Given the description of an element on the screen output the (x, y) to click on. 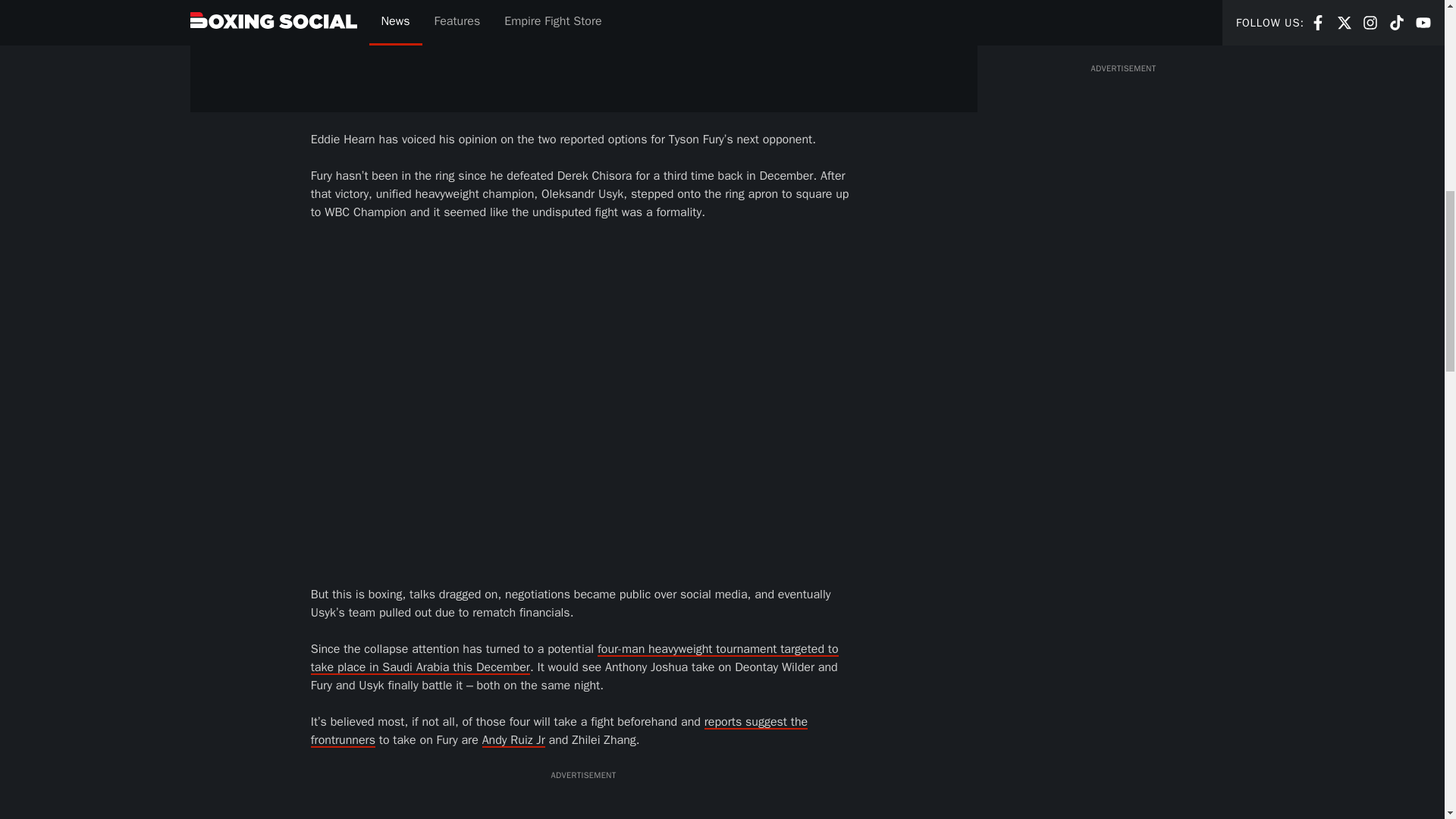
reports suggest the frontrunners (559, 730)
Andy Ruiz Jr (512, 739)
